Given the description of an element on the screen output the (x, y) to click on. 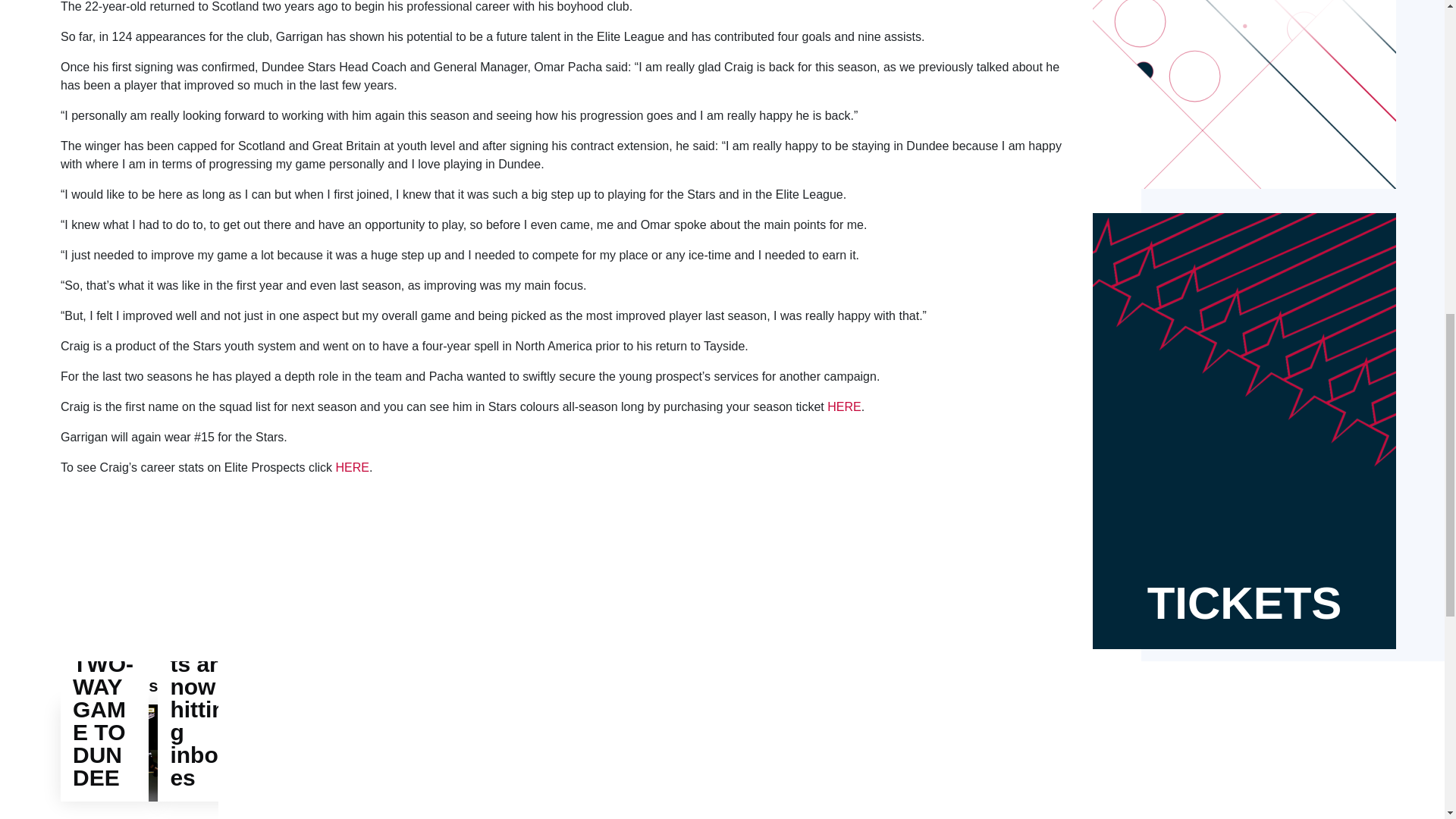
TICKETS (1244, 430)
WATCH LIVE (1244, 94)
HERE (843, 406)
HERE (352, 467)
